Given the description of an element on the screen output the (x, y) to click on. 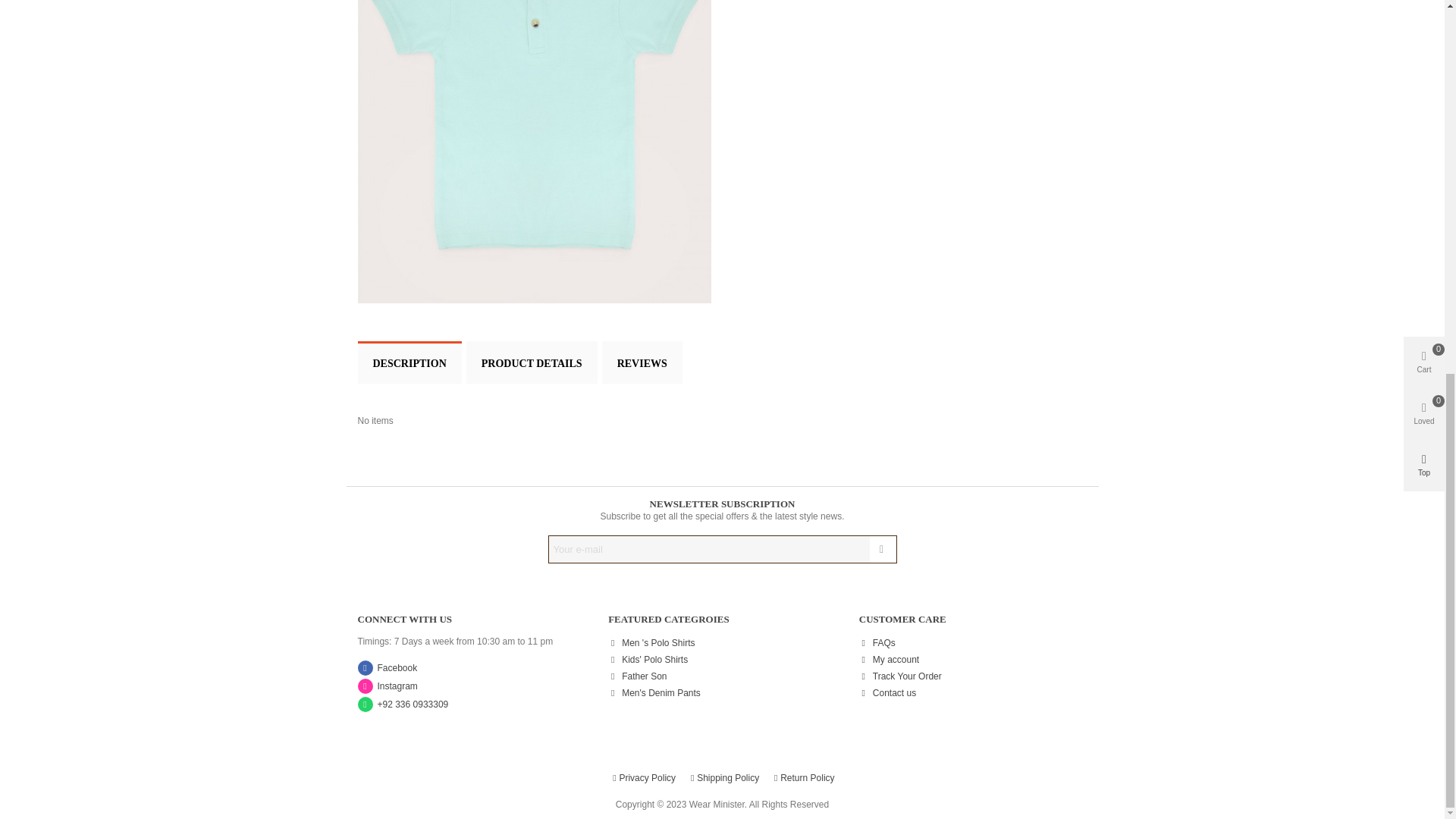
DESCRIPTION (409, 362)
